Given the description of an element on the screen output the (x, y) to click on. 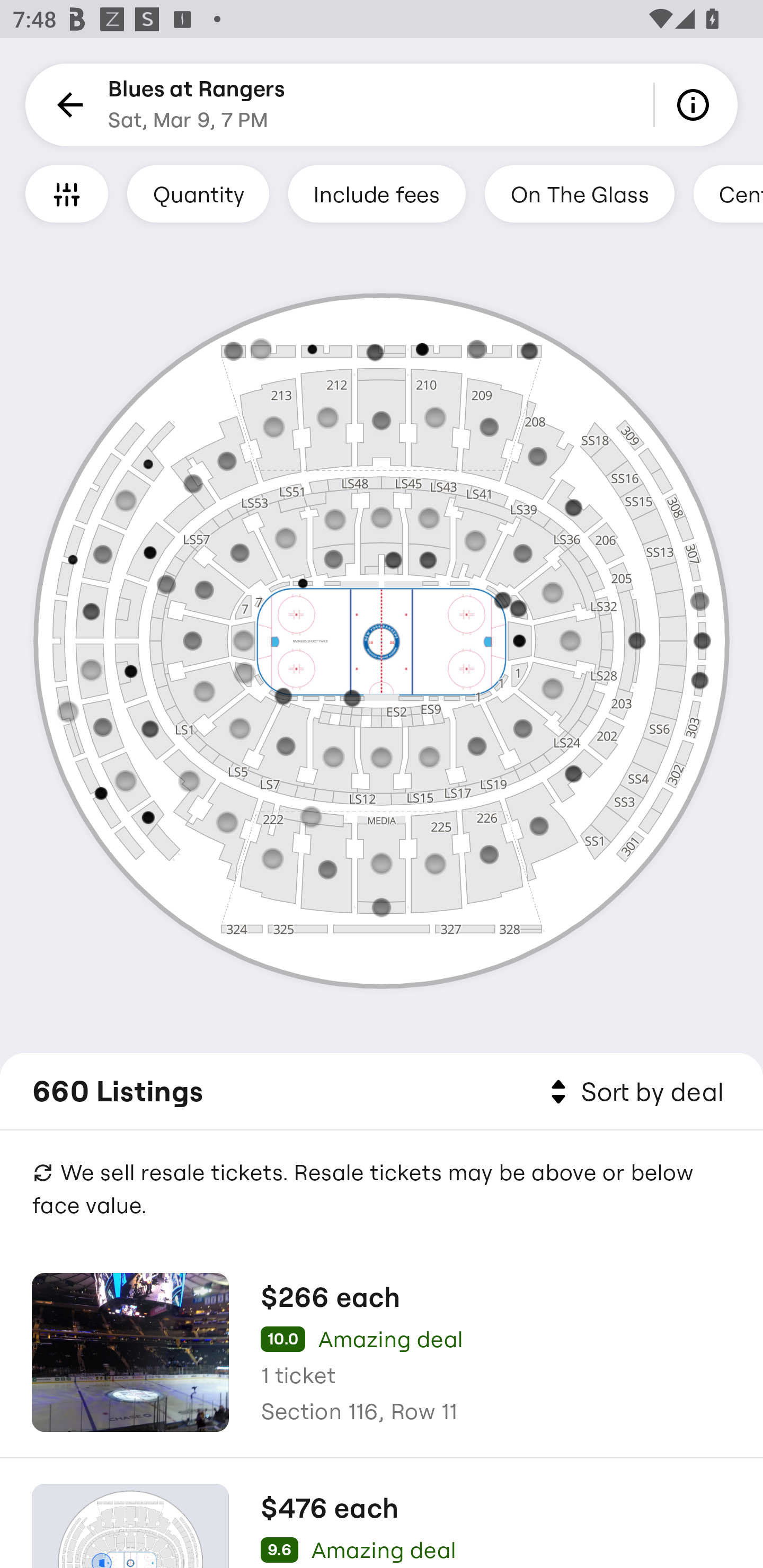
Back (66, 104)
Blues at Rangers Sat, Mar 9, 7 PM (196, 104)
Info (695, 104)
Filters and Accessible Seating (66, 193)
Quantity (198, 193)
Include fees (376, 193)
On The Glass (579, 193)
Sort by deal (633, 1091)
